Given the description of an element on the screen output the (x, y) to click on. 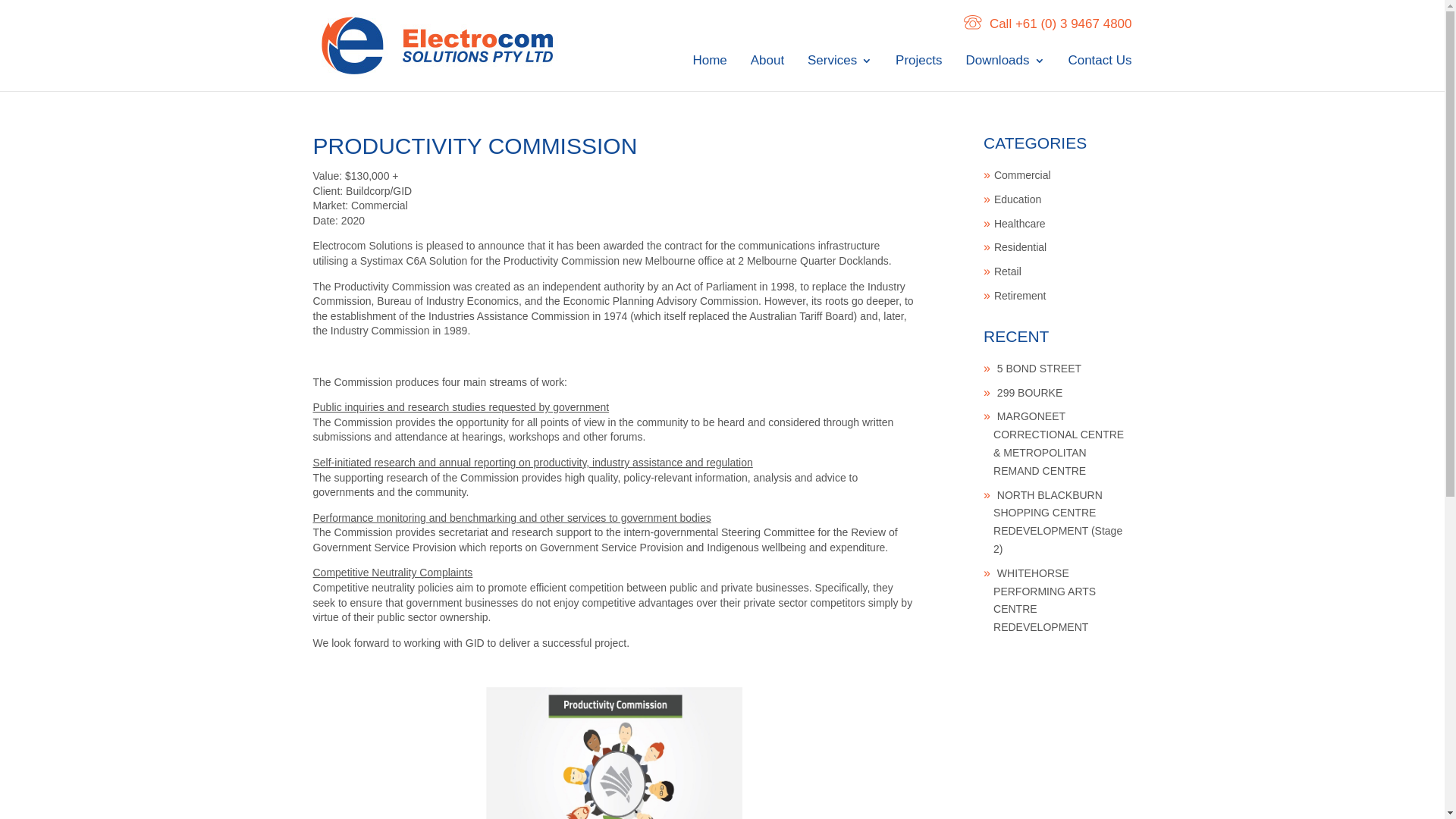
Retirement Element type: text (1019, 295)
About Element type: text (767, 73)
Call +61 (0) 3 9467 4800 Element type: text (1047, 23)
Projects Element type: text (918, 73)
MARGONEET CORRECTIONAL CENTRE & METROPOLITAN REMAND CENTRE Element type: text (1058, 443)
Contact Us Element type: text (1099, 73)
Retail Element type: text (1007, 271)
WHITEHORSE PERFORMING ARTS CENTRE REDEVELOPMENT Element type: text (1044, 600)
Education Element type: text (1017, 199)
Commercial Element type: text (1022, 175)
Services Element type: text (839, 73)
NORTH BLACKBURN SHOPPING CENTRE REDEVELOPMENT (Stage 2) Element type: text (1057, 522)
Downloads Element type: text (1004, 73)
Residential Element type: text (1020, 247)
Home Element type: text (709, 73)
5 BOND STREET Element type: text (1039, 368)
Healthcare Element type: text (1019, 223)
299 BOURKE Element type: text (1029, 392)
